Given the description of an element on the screen output the (x, y) to click on. 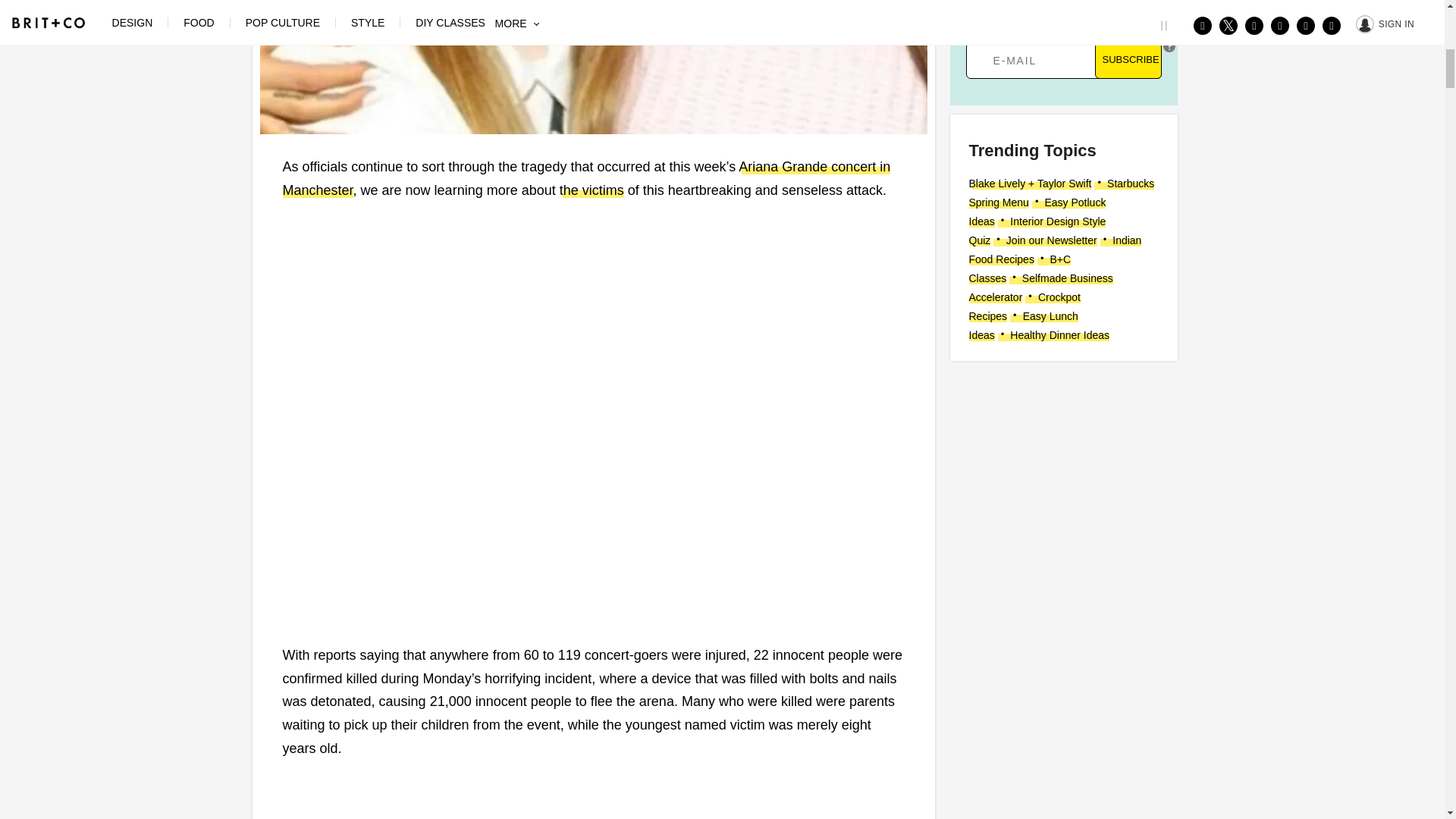
3rd party ad content (1062, 466)
